Given the description of an element on the screen output the (x, y) to click on. 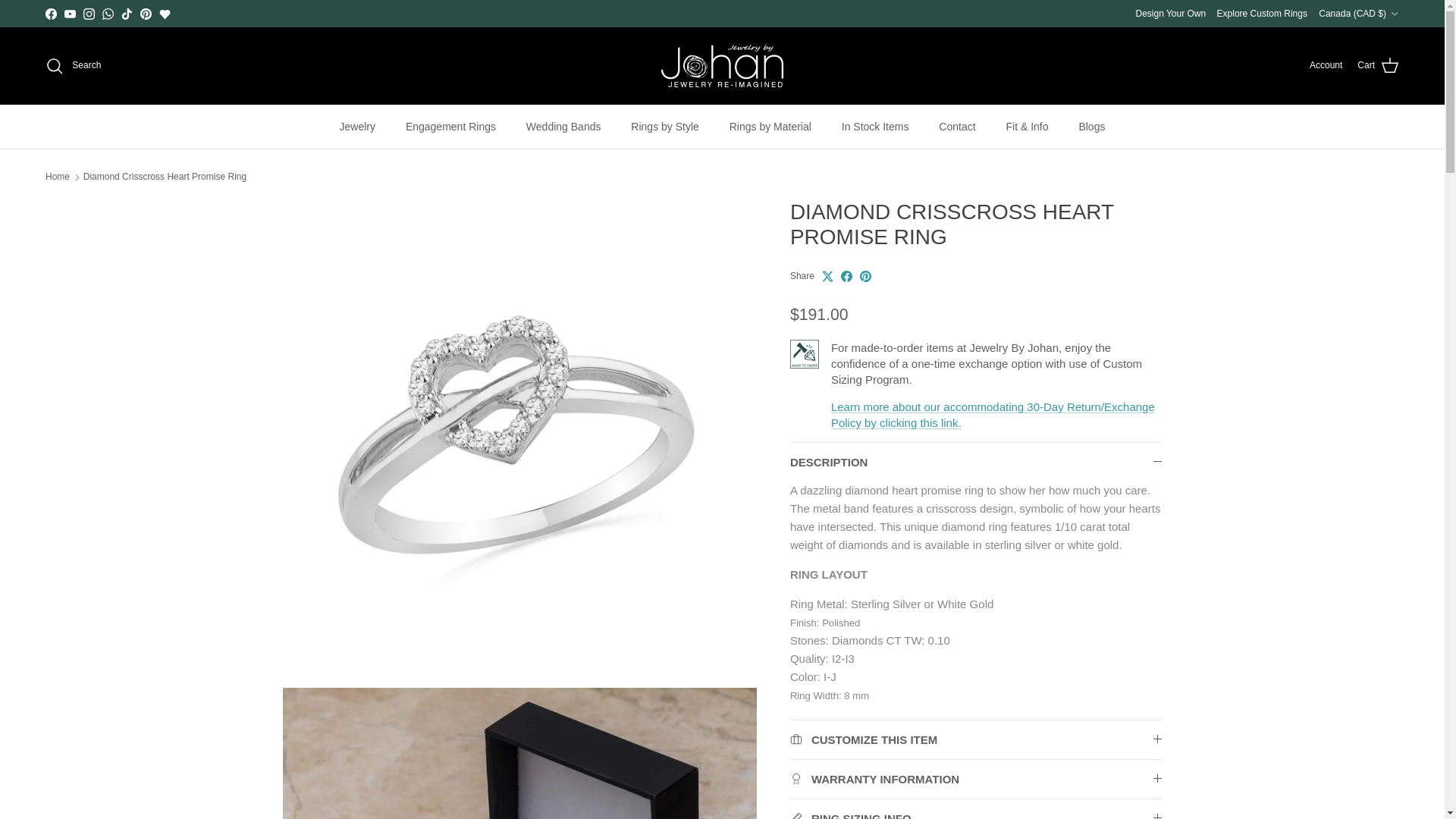
Jewelry by Johan on Pinterest (145, 12)
Share on Facebook (846, 276)
Search (72, 65)
TikTok (126, 12)
WhatsApp (107, 12)
Pinterest (145, 12)
Jewelry by Johan (721, 65)
YouTube (69, 12)
Jewelry (357, 126)
Jewelry by Johan on TikTok (126, 12)
Design Your Own (1170, 13)
Jewelry by Johan on WhatsApp (107, 12)
Jewelry by Johan on YouTube (69, 12)
Tweet on X (827, 276)
Jewelry by Johan on Facebook (50, 12)
